Given the description of an element on the screen output the (x, y) to click on. 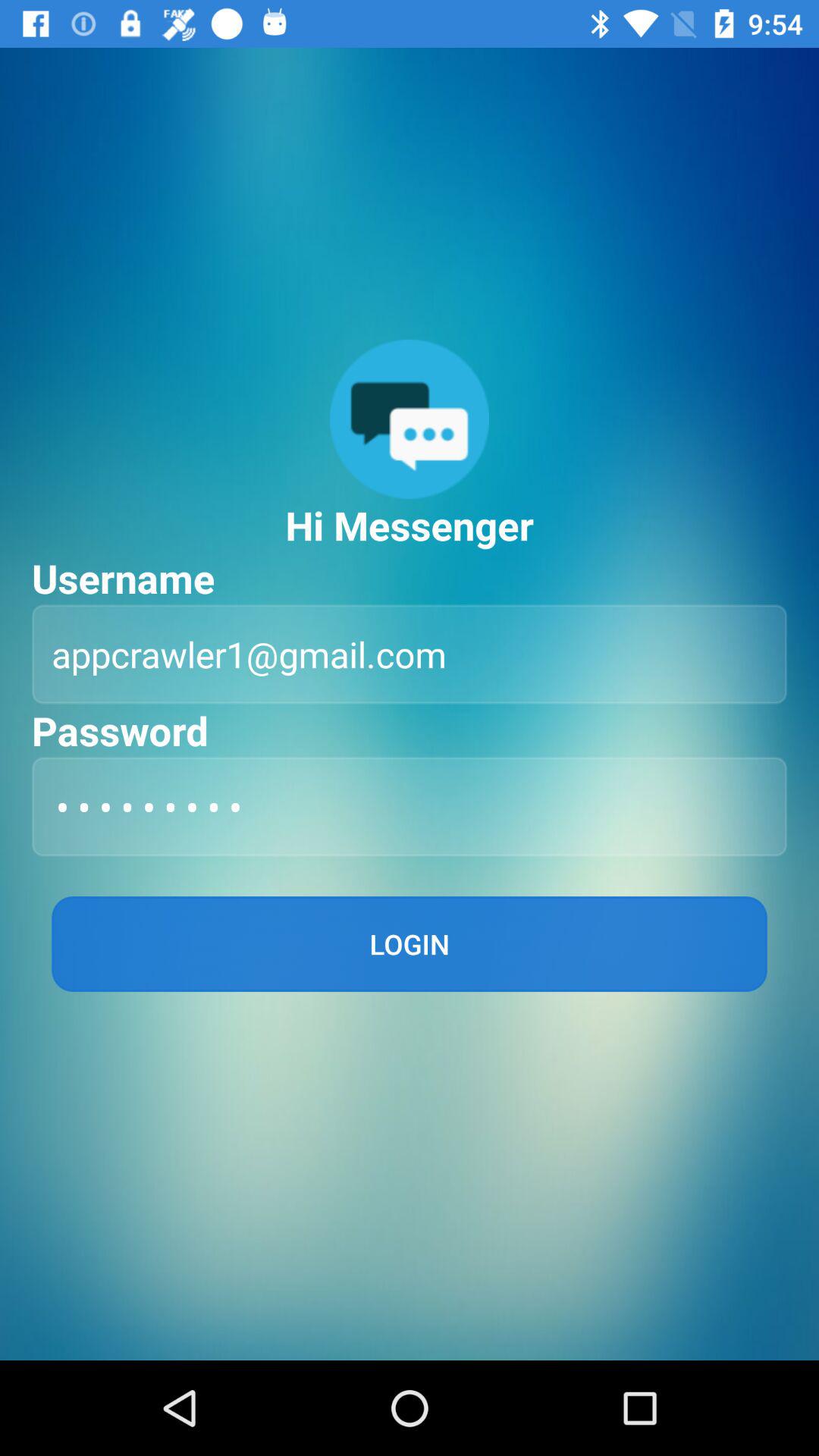
open crowd3116 icon (409, 806)
